Given the description of an element on the screen output the (x, y) to click on. 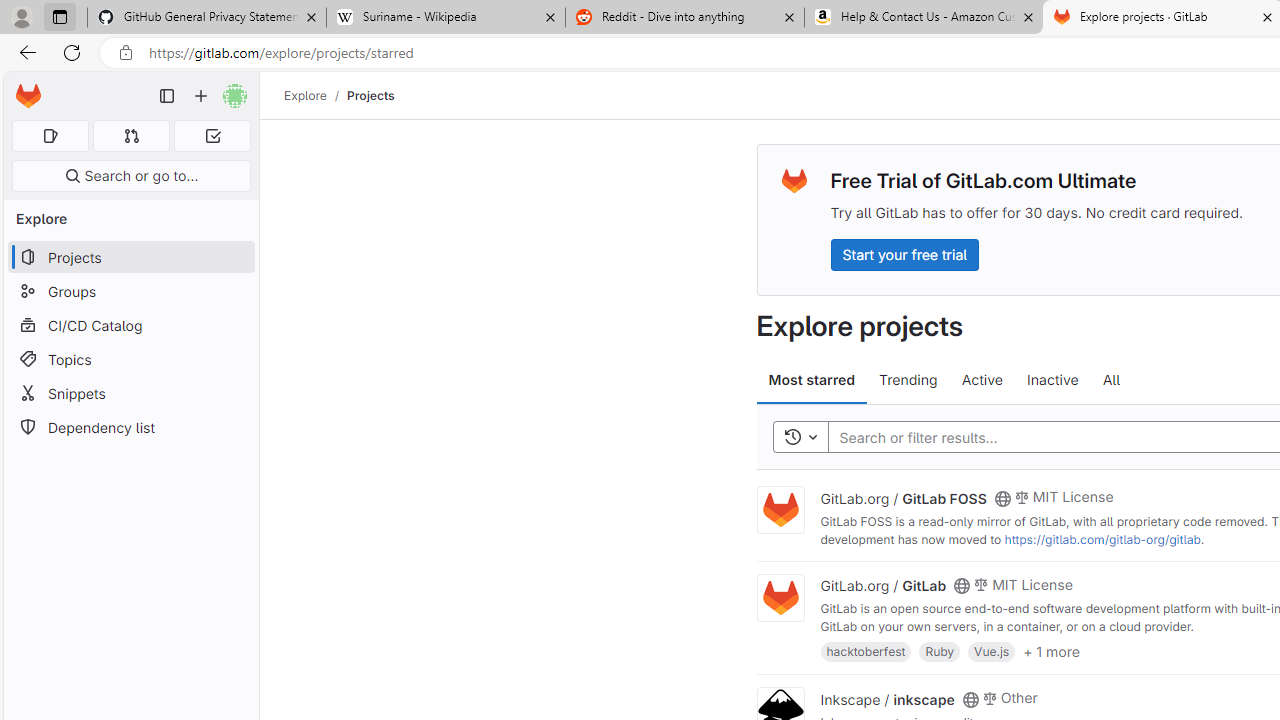
Most starred (811, 379)
Vue.js (991, 650)
Toggle history (800, 437)
Class: s14 gl-mr-2 (989, 696)
Snippets (130, 393)
